Given the description of an element on the screen output the (x, y) to click on. 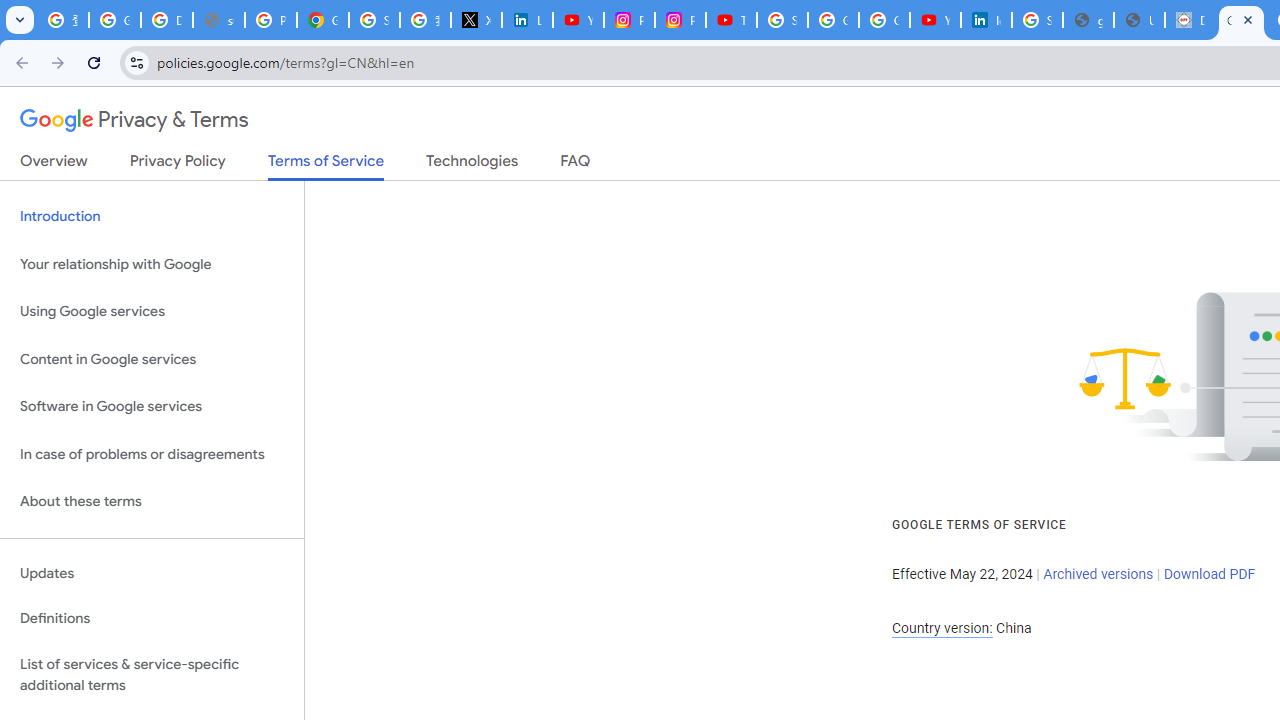
LinkedIn Privacy Policy (526, 20)
User Details (1138, 20)
Privacy Help Center - Policies Help (270, 20)
X (475, 20)
Data Privacy Framework (1189, 20)
Software in Google services (152, 407)
Country version: (942, 628)
support.google.com - Network error (218, 20)
Sign in - Google Accounts (374, 20)
